Given the description of an element on the screen output the (x, y) to click on. 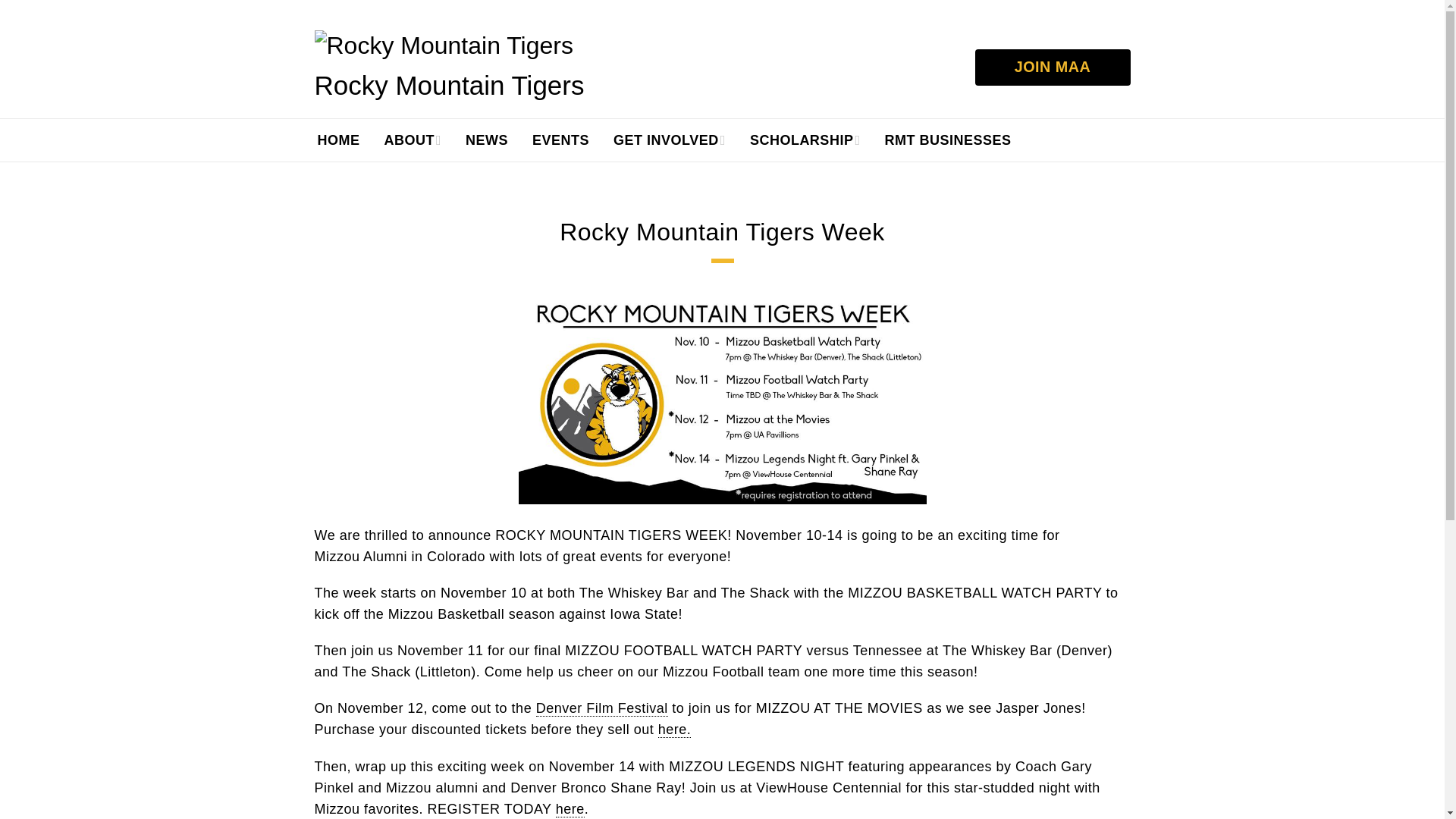
JOIN MAA (1053, 67)
SCHOLARSHIP (805, 140)
here. (674, 729)
Rocky Mountain Tigers (443, 46)
ABOUT (411, 140)
here (570, 809)
HOME (337, 140)
GET INVOLVED (669, 140)
EVENTS (560, 140)
NEWS (485, 140)
